Given the description of an element on the screen output the (x, y) to click on. 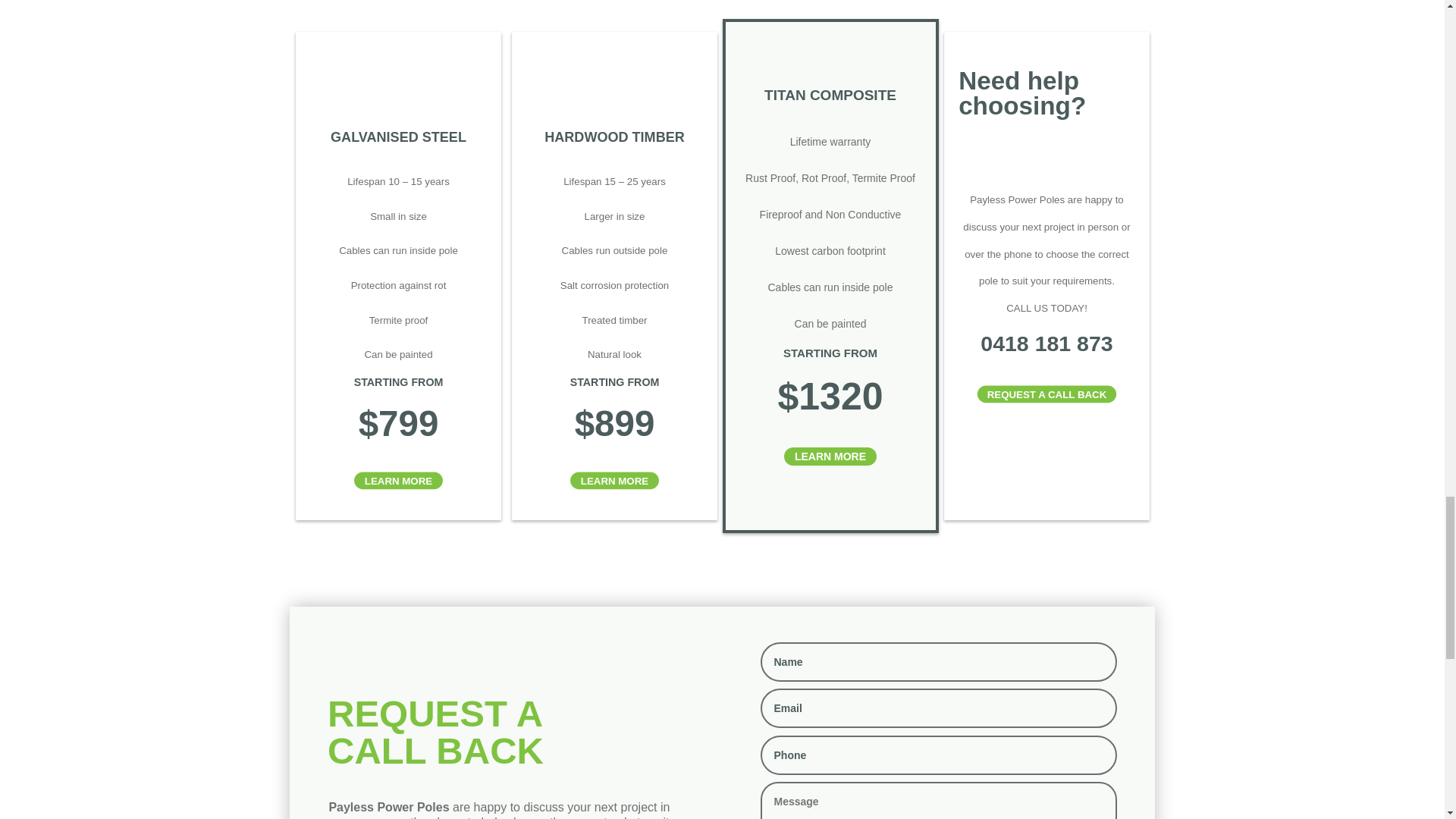
GALVANISED STEEL (401, 137)
LEARN MORE (399, 480)
Only numbers allowed. (938, 754)
